Given the description of an element on the screen output the (x, y) to click on. 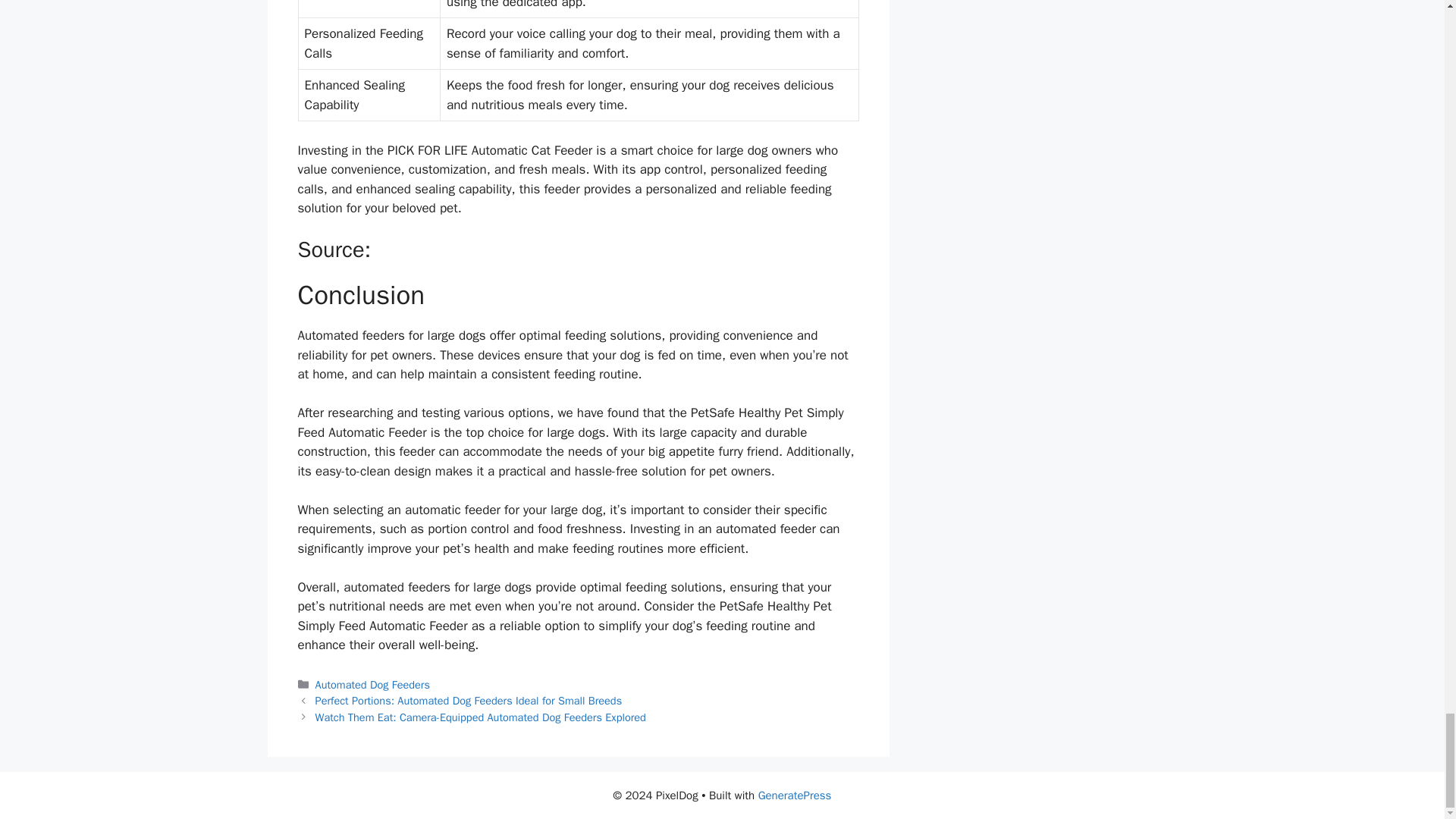
Automated Dog Feeders (372, 684)
GeneratePress (794, 795)
